Given the description of an element on the screen output the (x, y) to click on. 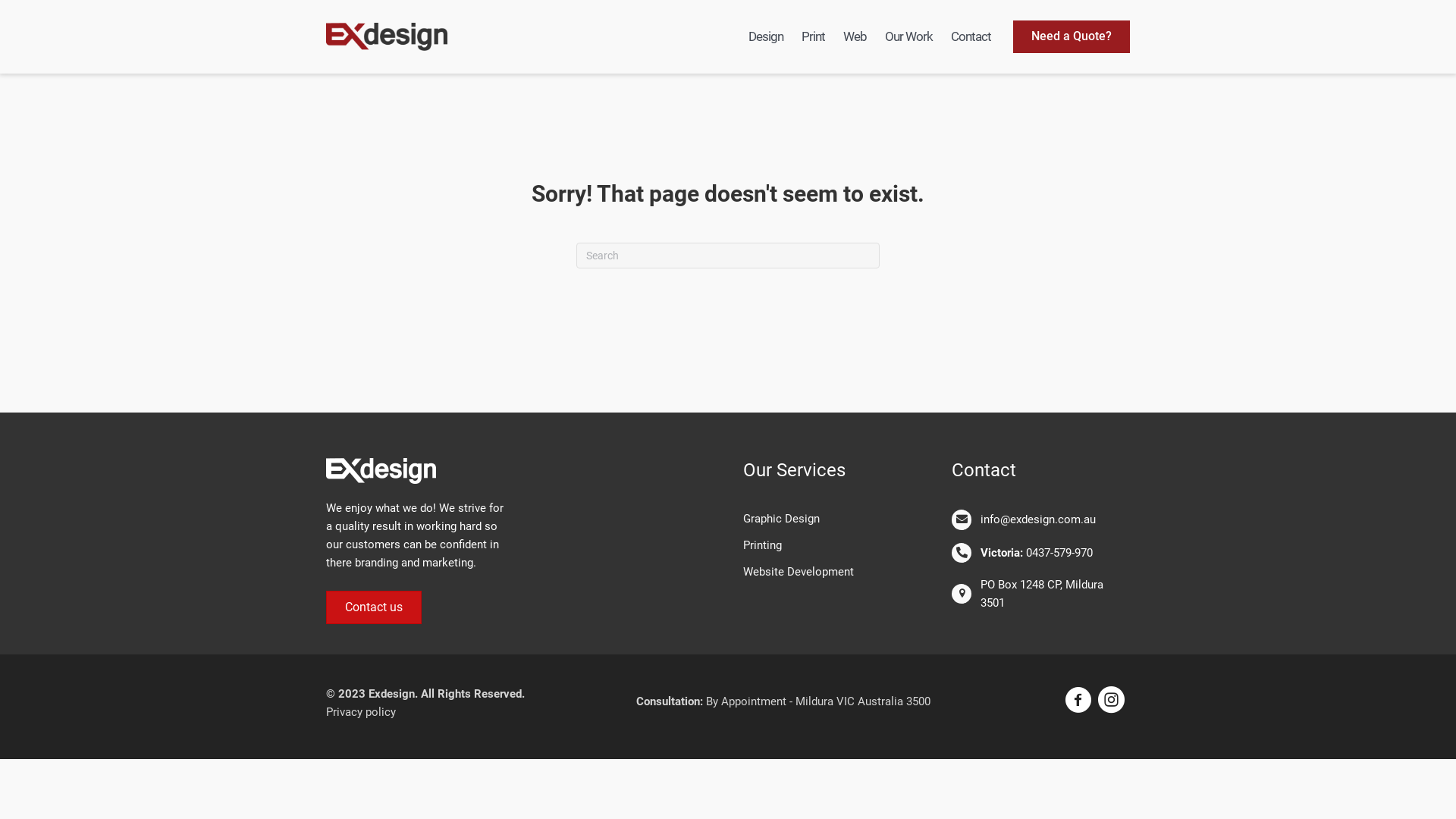
Print Element type: text (813, 36)
Contact us Element type: text (373, 607)
Exdesign Element type: hover (386, 36)
Website Development Element type: text (832, 571)
Need a Quote? Element type: text (1071, 36)
Web Element type: text (854, 36)
Our Work Element type: text (908, 36)
Graphic Design Element type: text (832, 518)
Contact Element type: text (970, 36)
Type and press Enter to search. Element type: hover (727, 255)
Printing Element type: text (832, 545)
logo-reversed Element type: hover (381, 470)
Design Element type: text (765, 36)
Privacy policy Element type: text (360, 711)
